Given the description of an element on the screen output the (x, y) to click on. 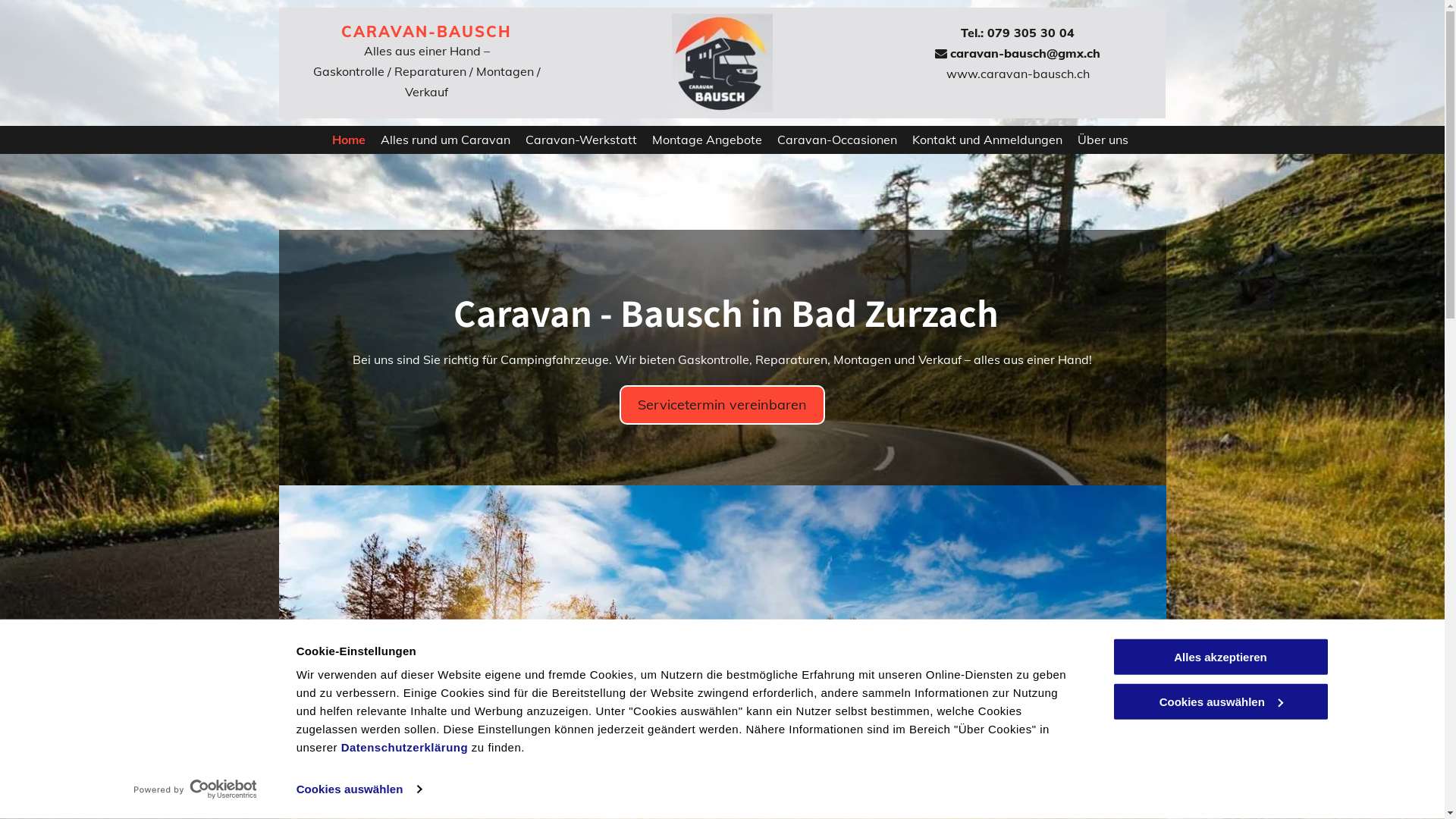
Caravan-Occasionen Element type: text (828, 139)
Alles akzeptieren Element type: text (1219, 656)
Home Element type: text (340, 139)
079 305 30 04 Element type: text (1030, 32)
Alles rund um Caravan Element type: text (437, 139)
Montage Angebote Element type: text (699, 139)
Servicetermin vereinbaren Element type: text (722, 404)
caravan-bausch@gmx.ch Element type: text (1025, 52)
www.caravan-bausch.ch Element type: text (1017, 73)
Caravan-Werkstatt Element type: text (572, 139)
Kontakt und Anmeldungen Element type: text (978, 139)
CARAVAN-BAUSCH Element type: text (426, 30)
